Given the description of an element on the screen output the (x, y) to click on. 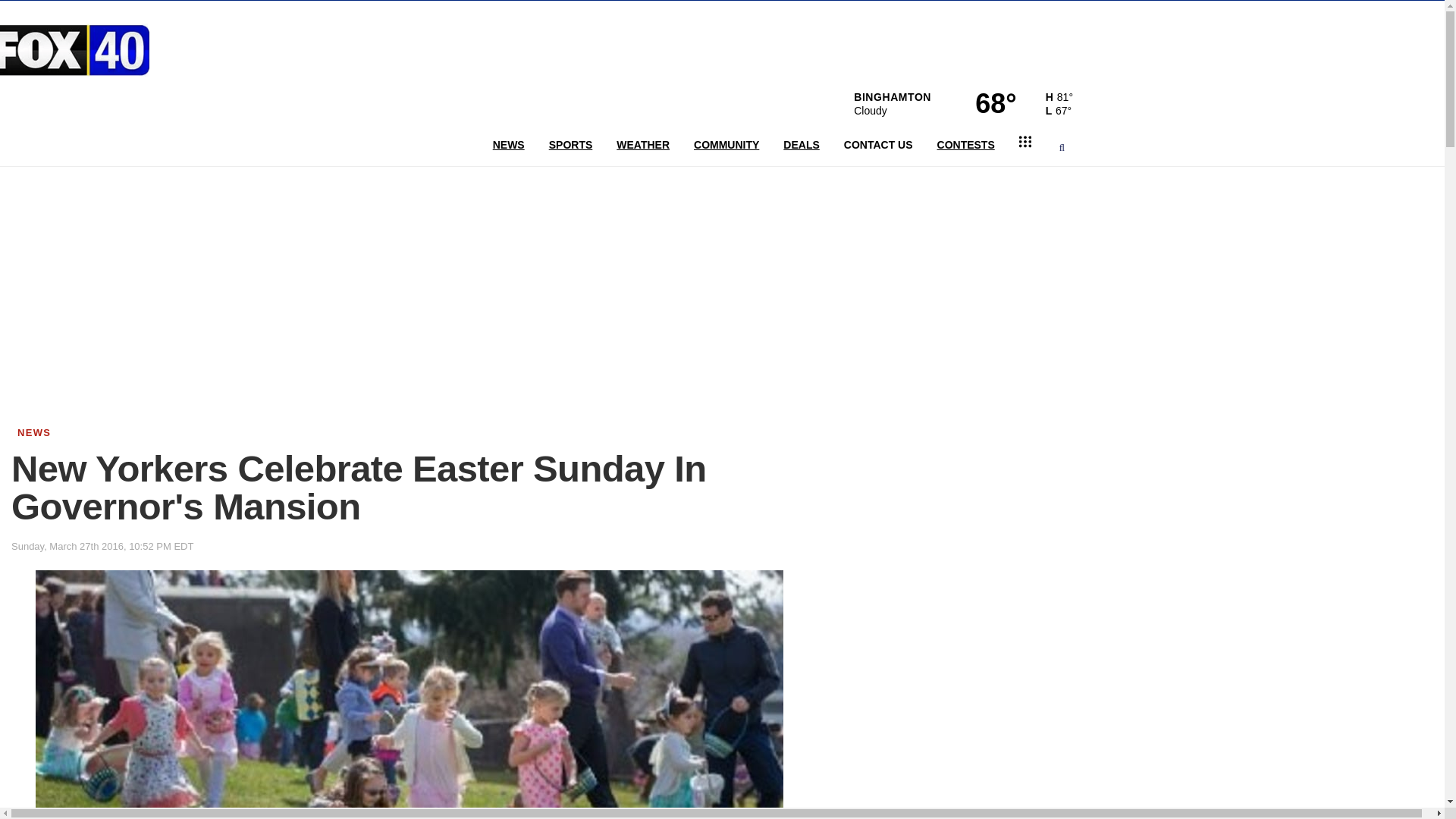
SPORTS (571, 144)
COMMUNITY (726, 144)
NEWS (508, 144)
WEATHER (642, 144)
